Given the description of an element on the screen output the (x, y) to click on. 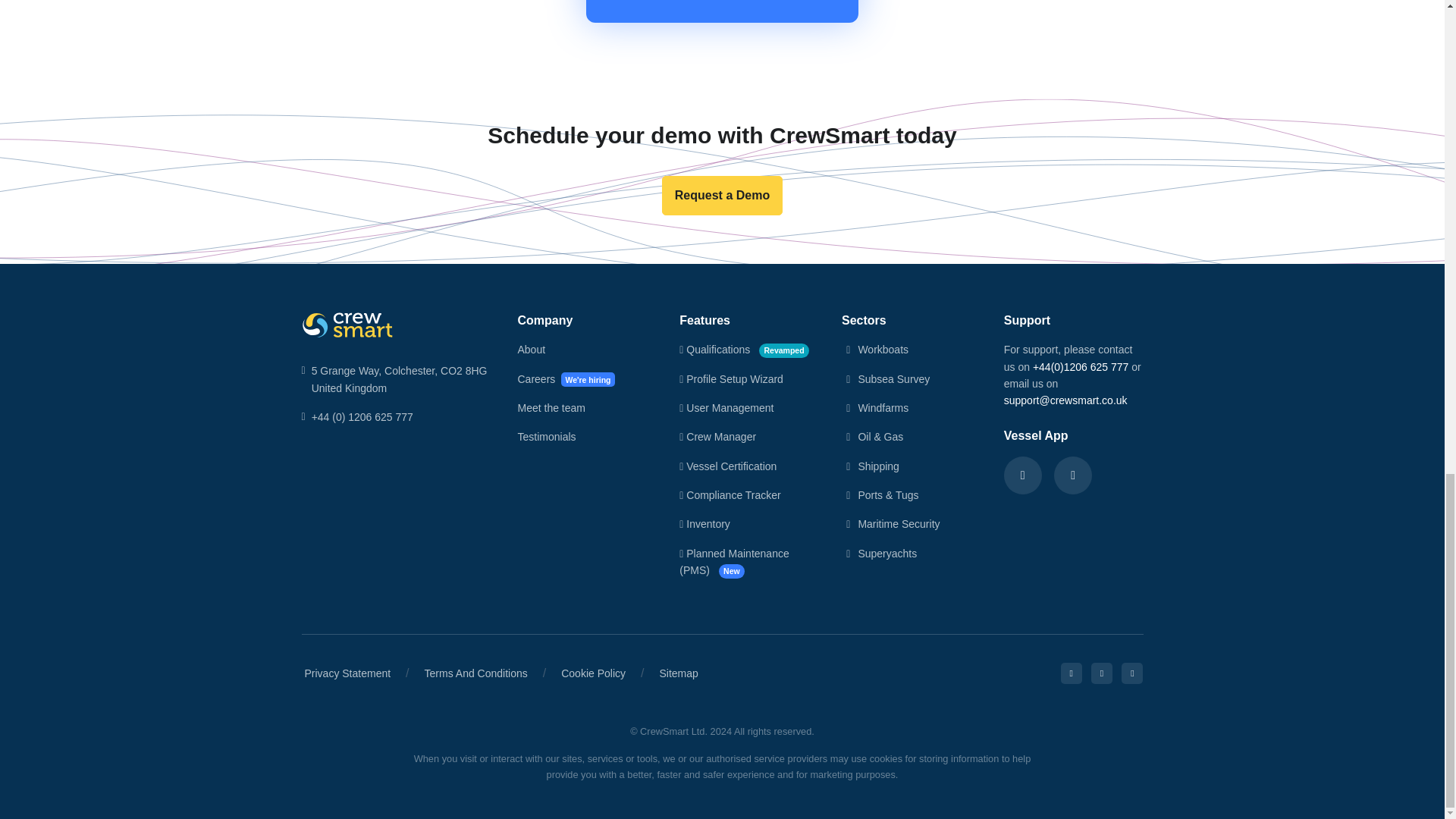
Sitemap (678, 673)
Cookie Policy (592, 673)
Available on Android for tablets (1073, 475)
Terms And Conditions (476, 673)
Privacy Statement (347, 673)
Available on iOS for tablets (1023, 475)
